Given the description of an element on the screen output the (x, y) to click on. 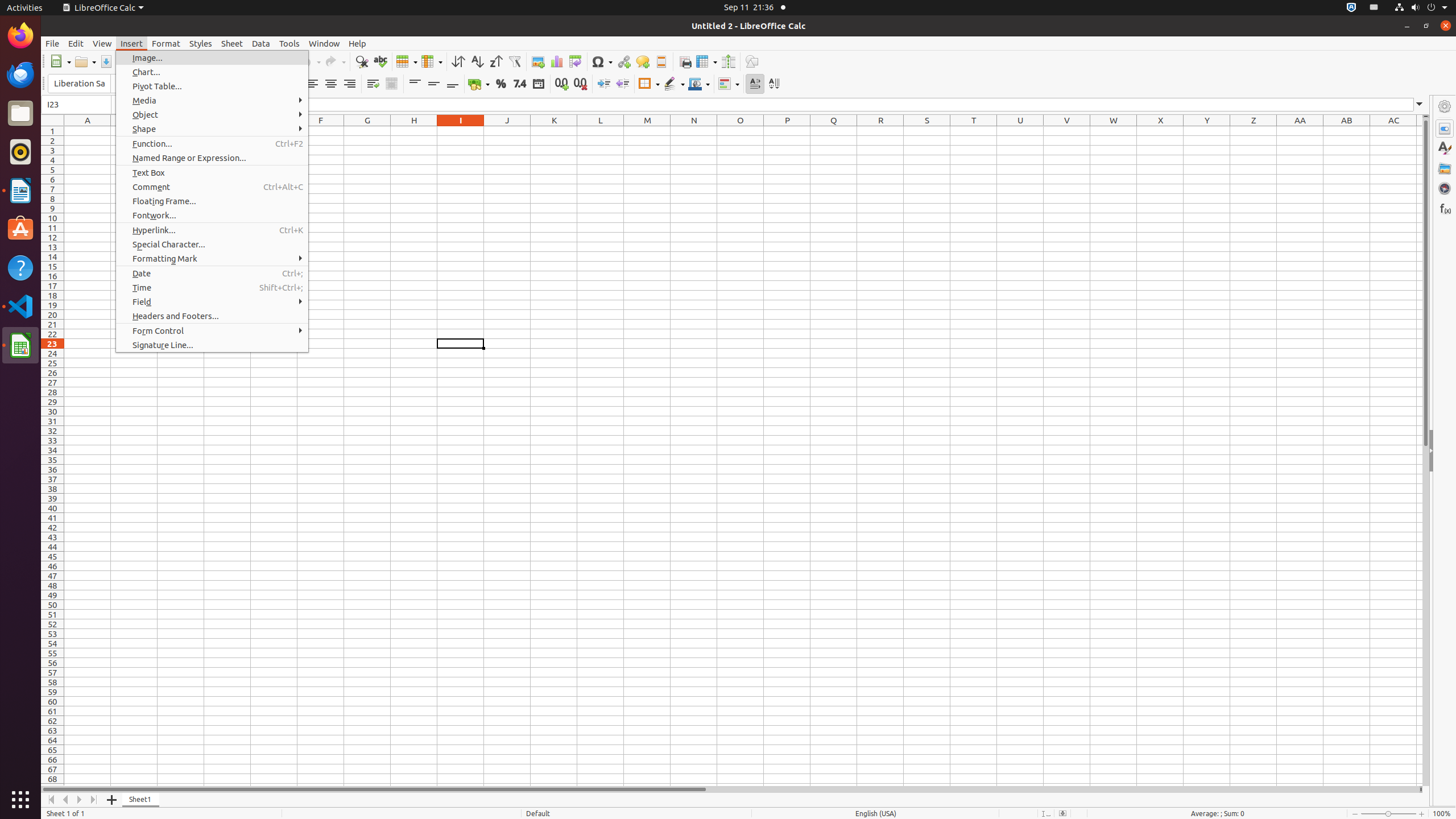
G1 Element type: table-cell (367, 130)
Vertical scroll bar Element type: scroll-bar (1425, 451)
Percent Element type: push-button (500, 83)
Text direction from left to right Element type: toggle-button (754, 83)
